Given the description of an element on the screen output the (x, y) to click on. 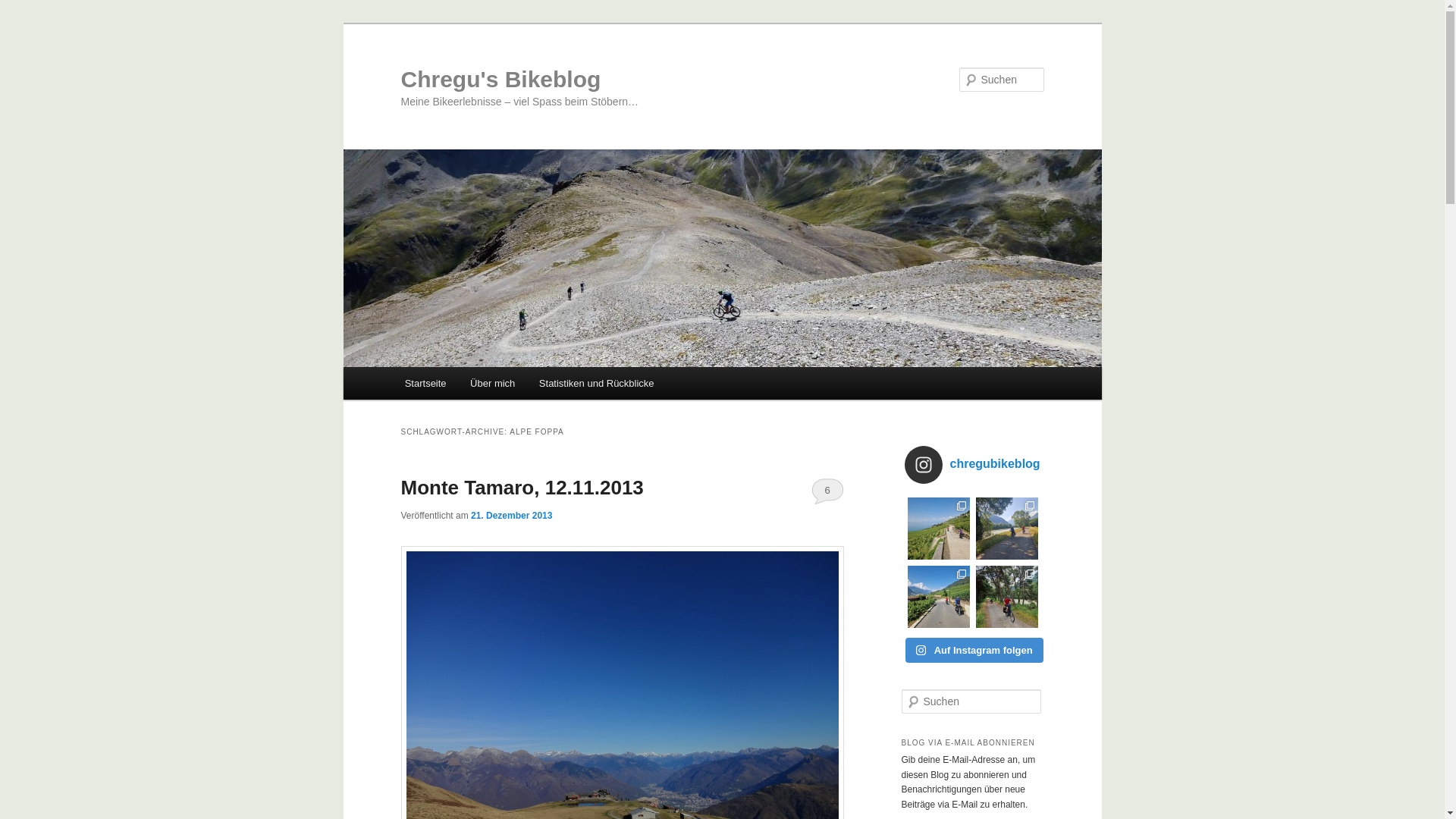
6 Element type: text (827, 490)
Suchen Element type: text (21, 10)
Startseite Element type: text (425, 383)
chregubikeblog Element type: text (974, 464)
Monte Tamaro, 12.11.2013 Element type: text (521, 487)
Suchen Element type: text (25, 8)
Zum Inhalt wechseln Element type: text (414, 367)
21. Dezember 2013 Element type: text (511, 515)
Chregu's Bikeblog Element type: text (500, 78)
Auf Instagram folgen Element type: text (973, 650)
